Given the description of an element on the screen output the (x, y) to click on. 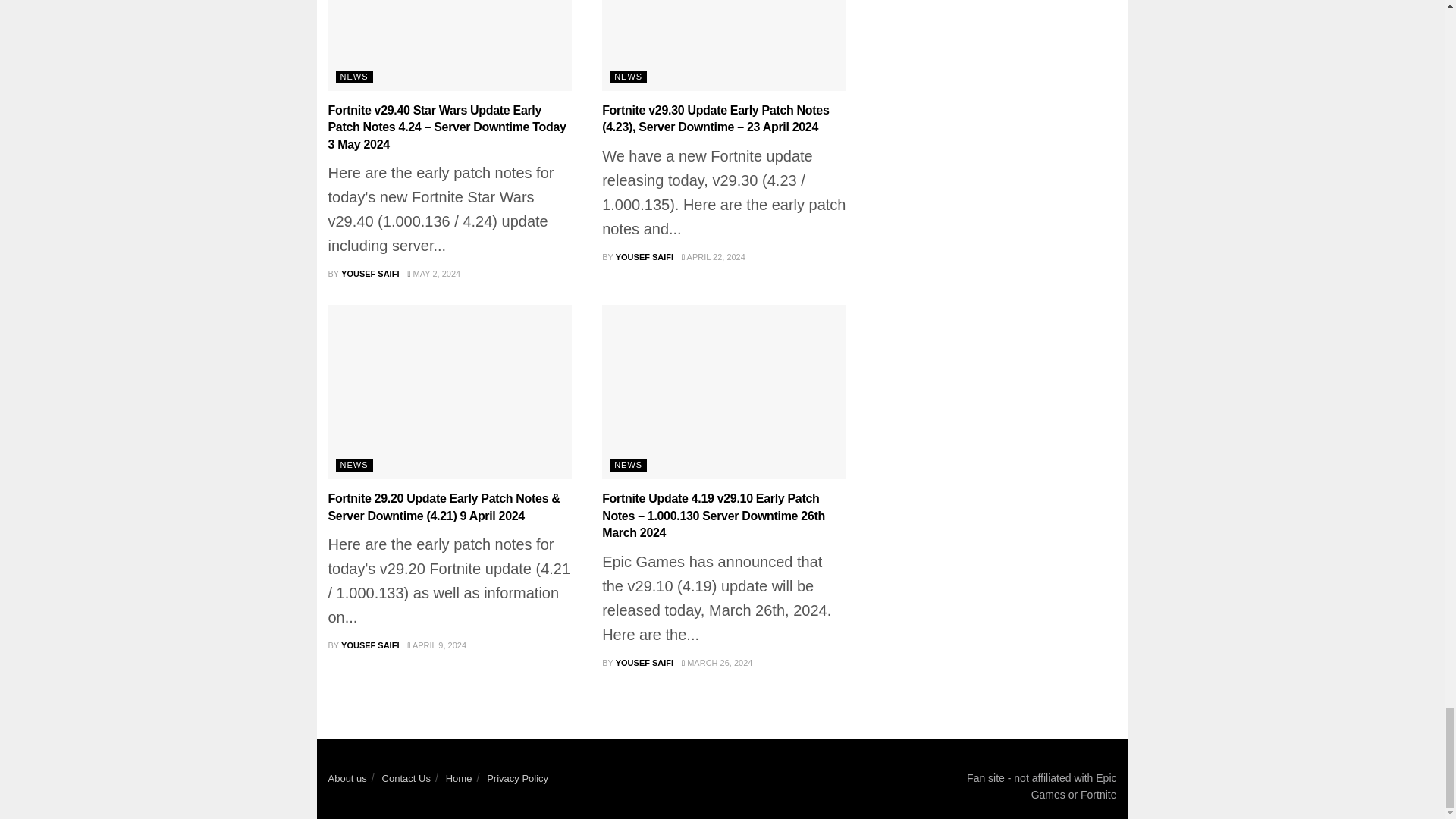
NEWS (353, 76)
NEWS (628, 76)
MAY 2, 2024 (433, 273)
YOUSEF SAIFI (369, 273)
